Given the description of an element on the screen output the (x, y) to click on. 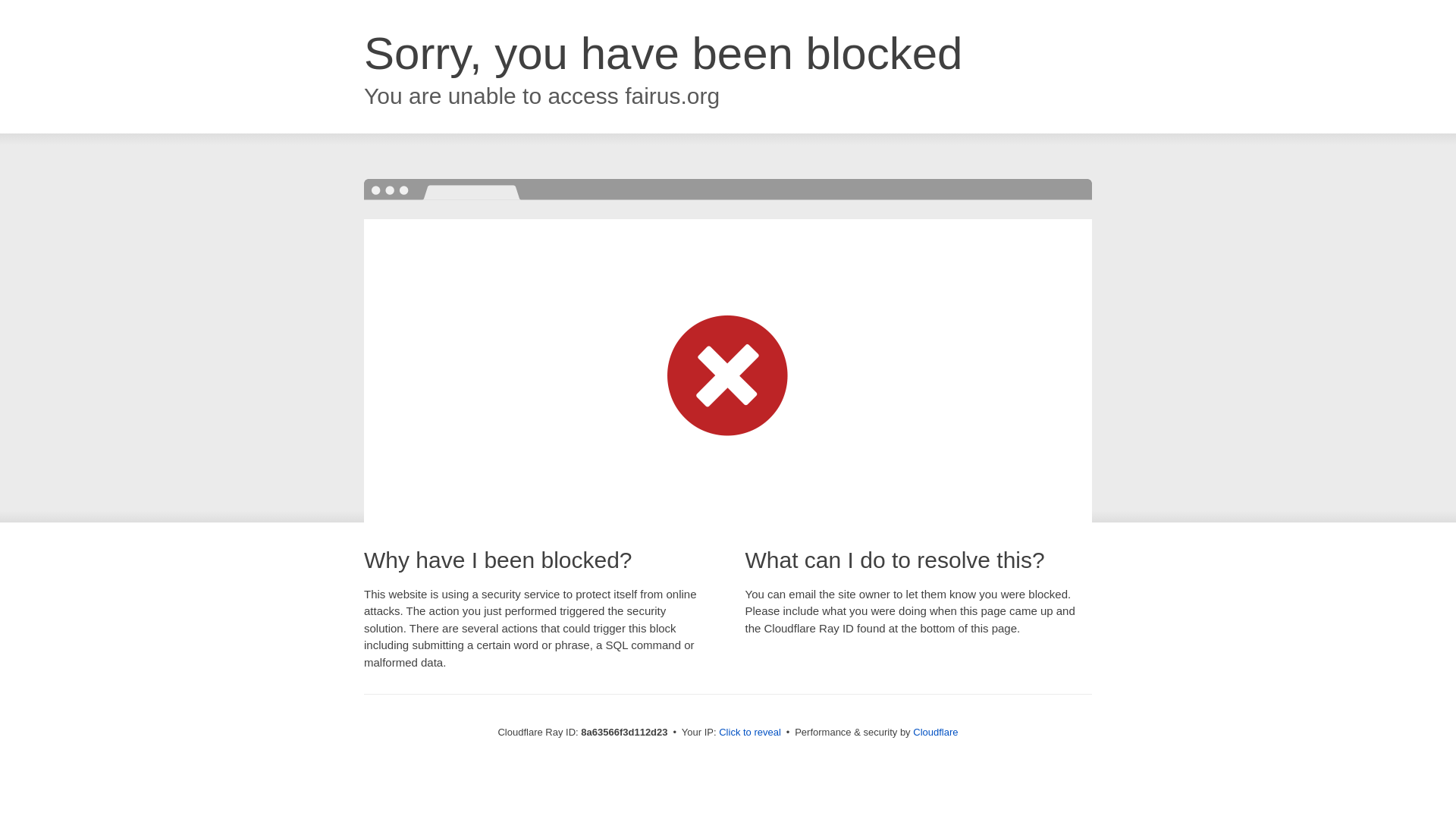
Click to reveal (749, 732)
Cloudflare (935, 731)
